Given the description of an element on the screen output the (x, y) to click on. 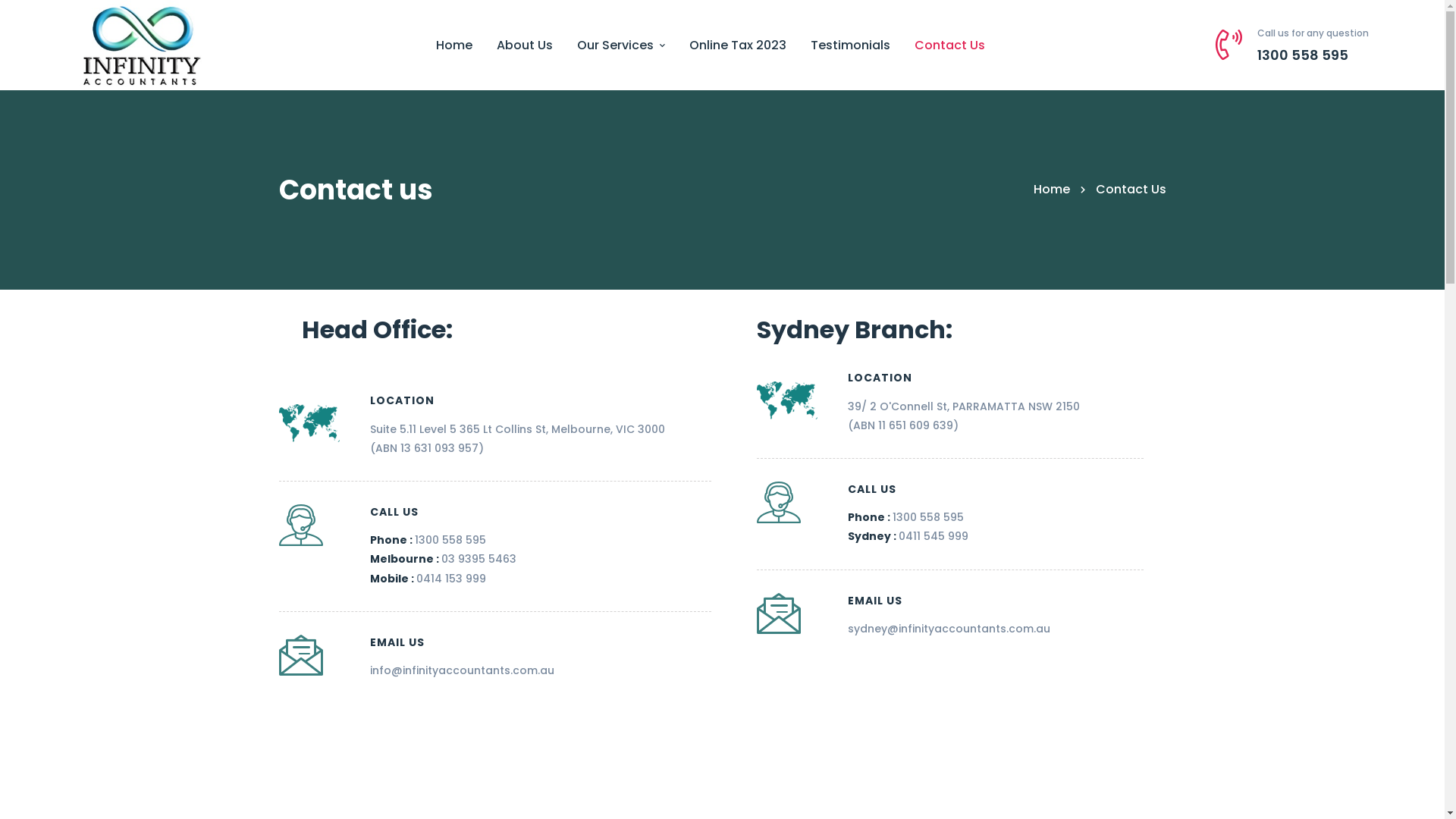
sydney@infinityaccountants.com.au Element type: text (948, 628)
0411 545 999 Element type: text (932, 535)
About Us Element type: text (523, 45)
1300 558 595 Element type: text (449, 539)
Suite 5.11 Level 5 365 Lt Collins St, Melbourne, VIC 3000 Element type: text (517, 428)
Contact Us Element type: text (949, 45)
03 9395 5463 Element type: text (478, 558)
Testimonials Element type: text (849, 45)
0414 153 999 Element type: text (450, 578)
39/ 2 O'Connell St, PARRAMATTA NSW 2150 Element type: text (963, 406)
Home Element type: text (1050, 188)
info@infinityaccountants.com.au Element type: text (462, 669)
1300 558 595 Element type: text (927, 516)
Home Element type: text (453, 45)
Online Tax 2023 Element type: text (736, 45)
Our Services Element type: text (620, 45)
